Given the description of an element on the screen output the (x, y) to click on. 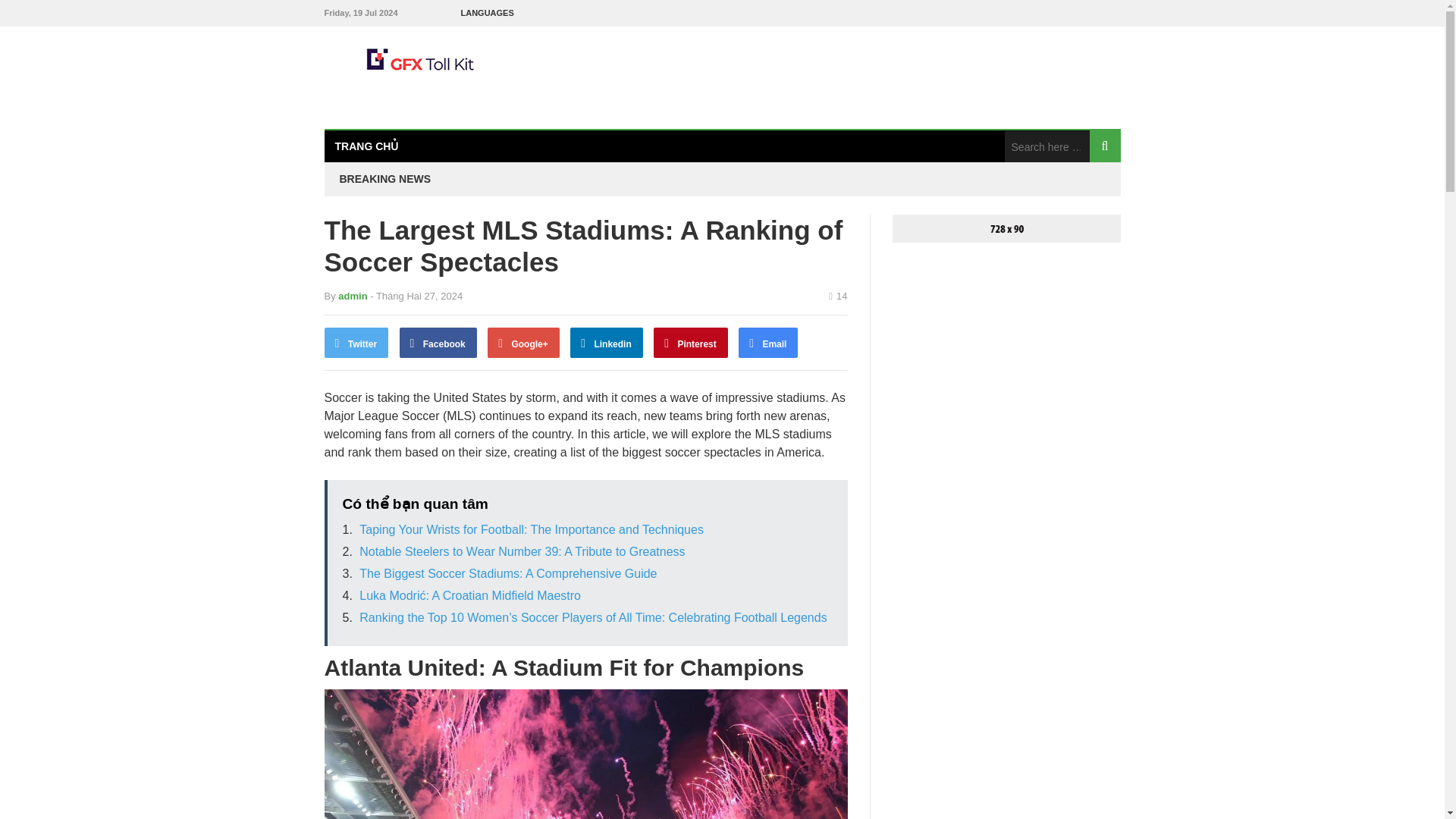
Notable Steelers to Wear Number 39: A Tribute to Greatness (521, 551)
Notable Steelers to Wear Number 39: A Tribute to Greatness (521, 551)
Twitter (356, 342)
Email (767, 342)
Pinterest (690, 342)
admin (351, 296)
Search for: (1046, 146)
The Biggest Soccer Stadiums: A Comprehensive Guide (507, 573)
LANGUAGES (487, 13)
The Biggest Soccer Stadiums: A Comprehensive Guide (507, 573)
Linkedin (606, 342)
Facebook (437, 342)
